Given the description of an element on the screen output the (x, y) to click on. 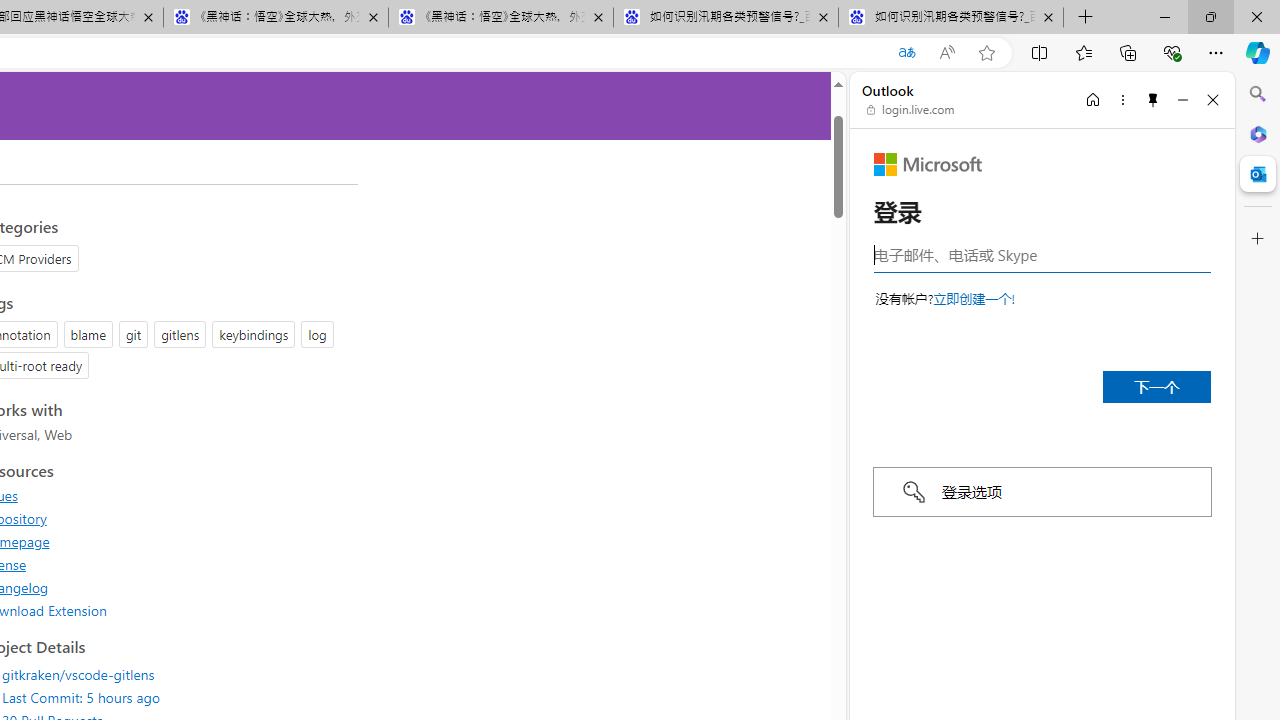
Unpin side pane (1153, 99)
